Given the description of an element on the screen output the (x, y) to click on. 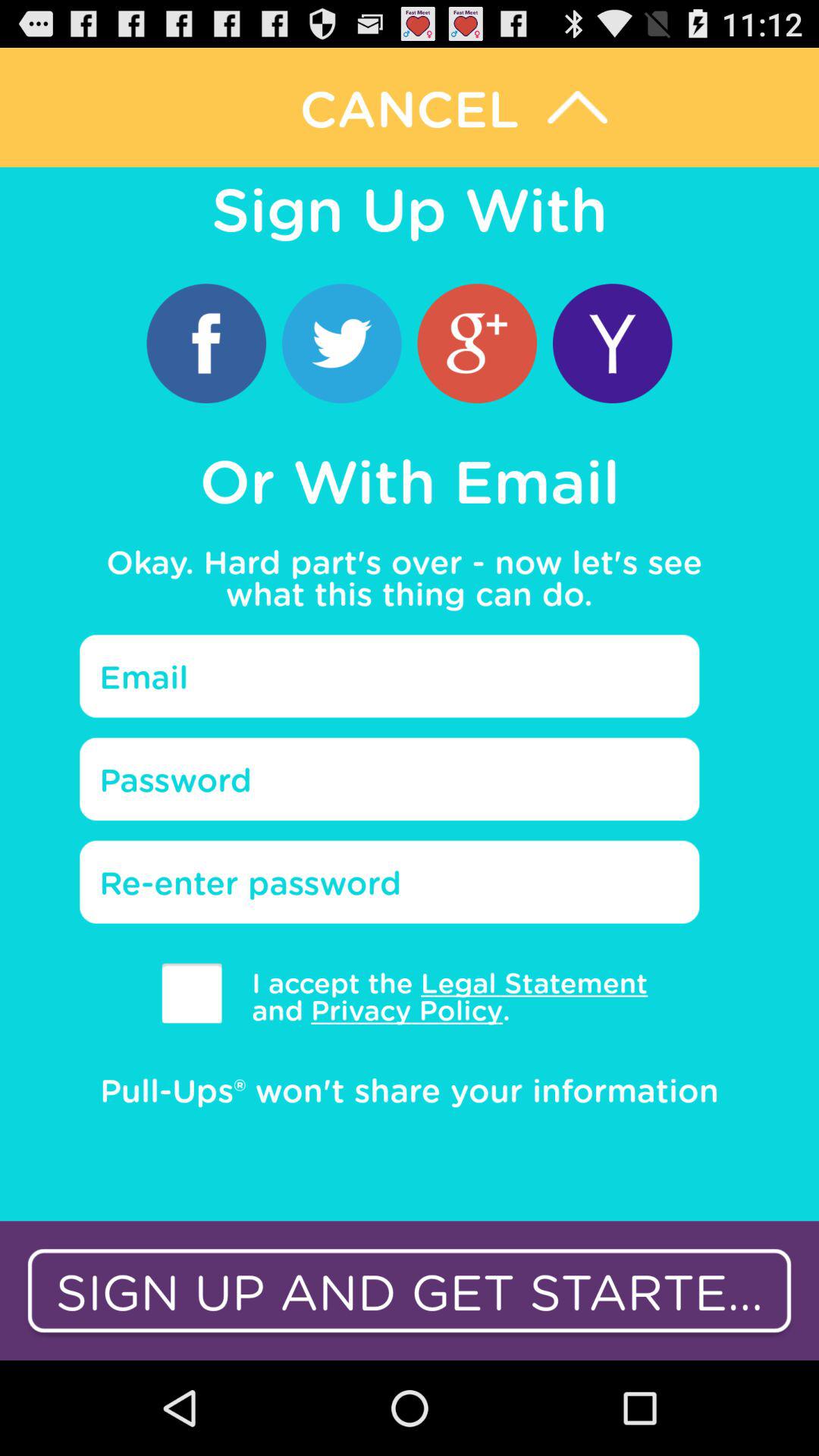
turn on app above or with email app (341, 343)
